Given the description of an element on the screen output the (x, y) to click on. 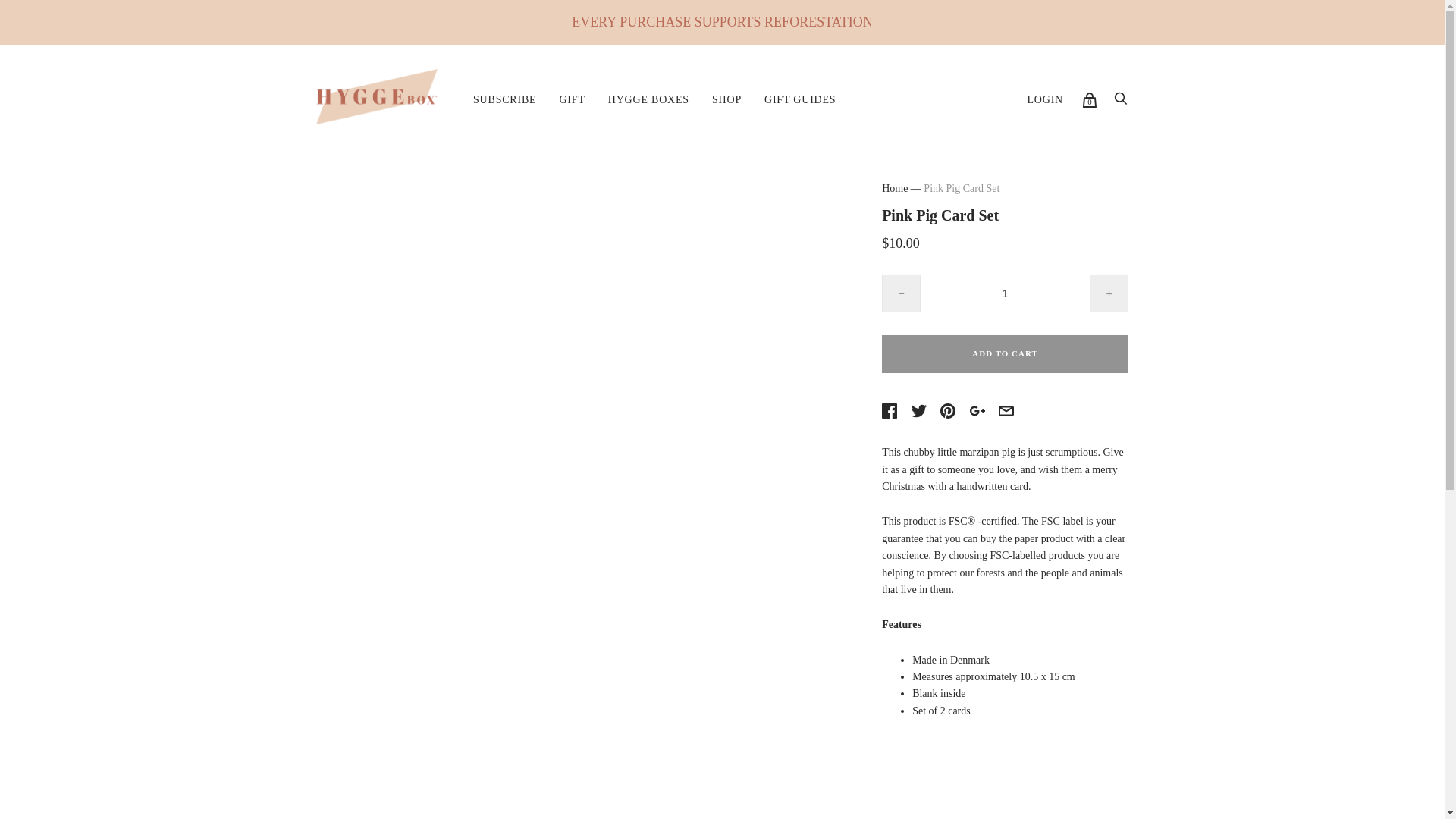
1 (1005, 293)
GIFT GUIDES (799, 99)
HYGGE BOXES (648, 99)
Home (894, 188)
0 (1089, 99)
GIFT (571, 99)
ADD TO CART (1005, 353)
SUBSCRIBE (504, 99)
LOGIN (1044, 99)
SHOP (726, 99)
